Given the description of an element on the screen output the (x, y) to click on. 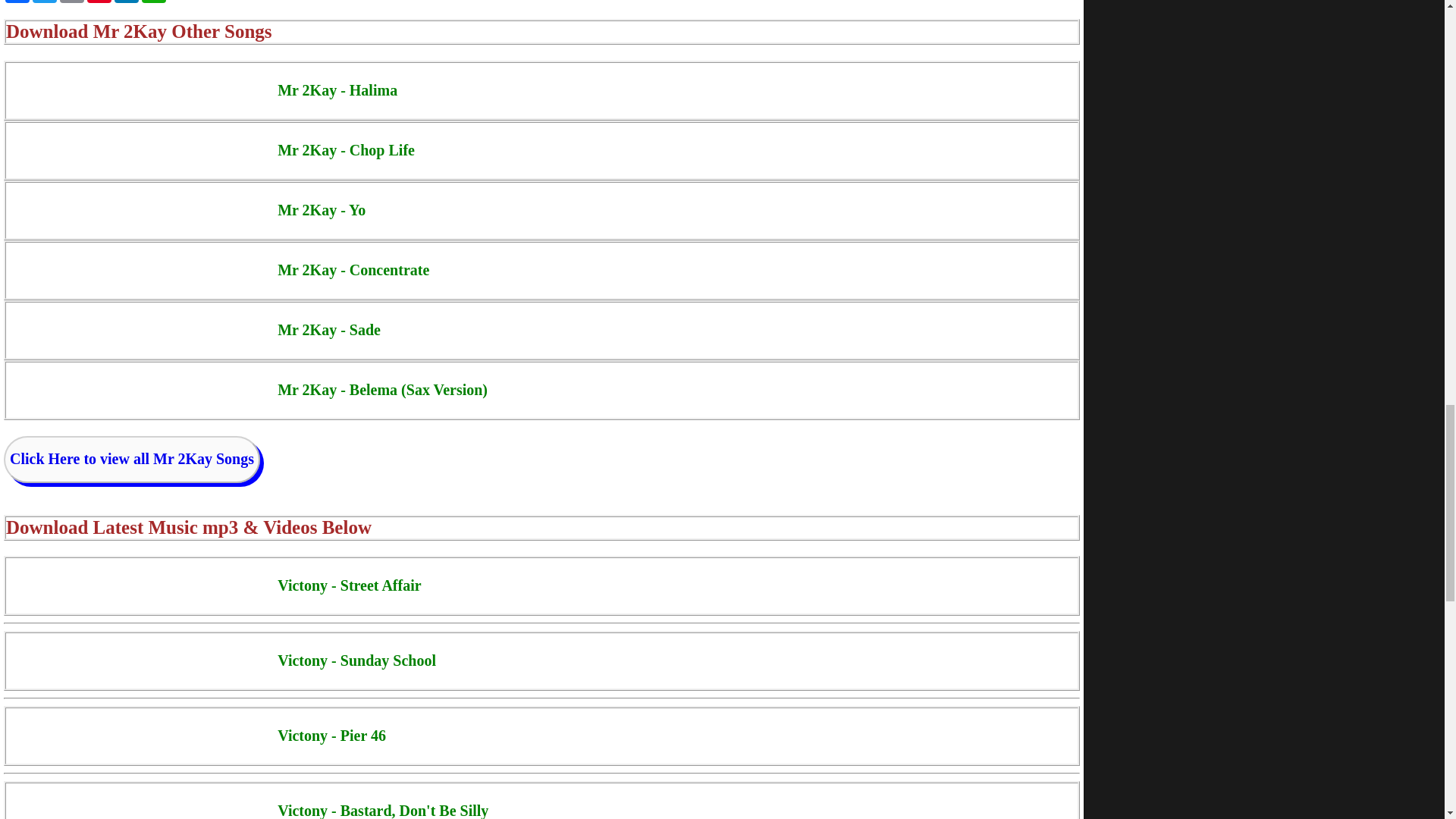
Click Here to view all Mr 2Kay Songs (132, 459)
Email (71, 1)
Pinterest (99, 1)
Click Here to view all Mr 2Kay Songs (131, 458)
WhatsApp (153, 1)
Twitter (44, 1)
Facebook (17, 1)
LinkedIn (126, 1)
